Given the description of an element on the screen output the (x, y) to click on. 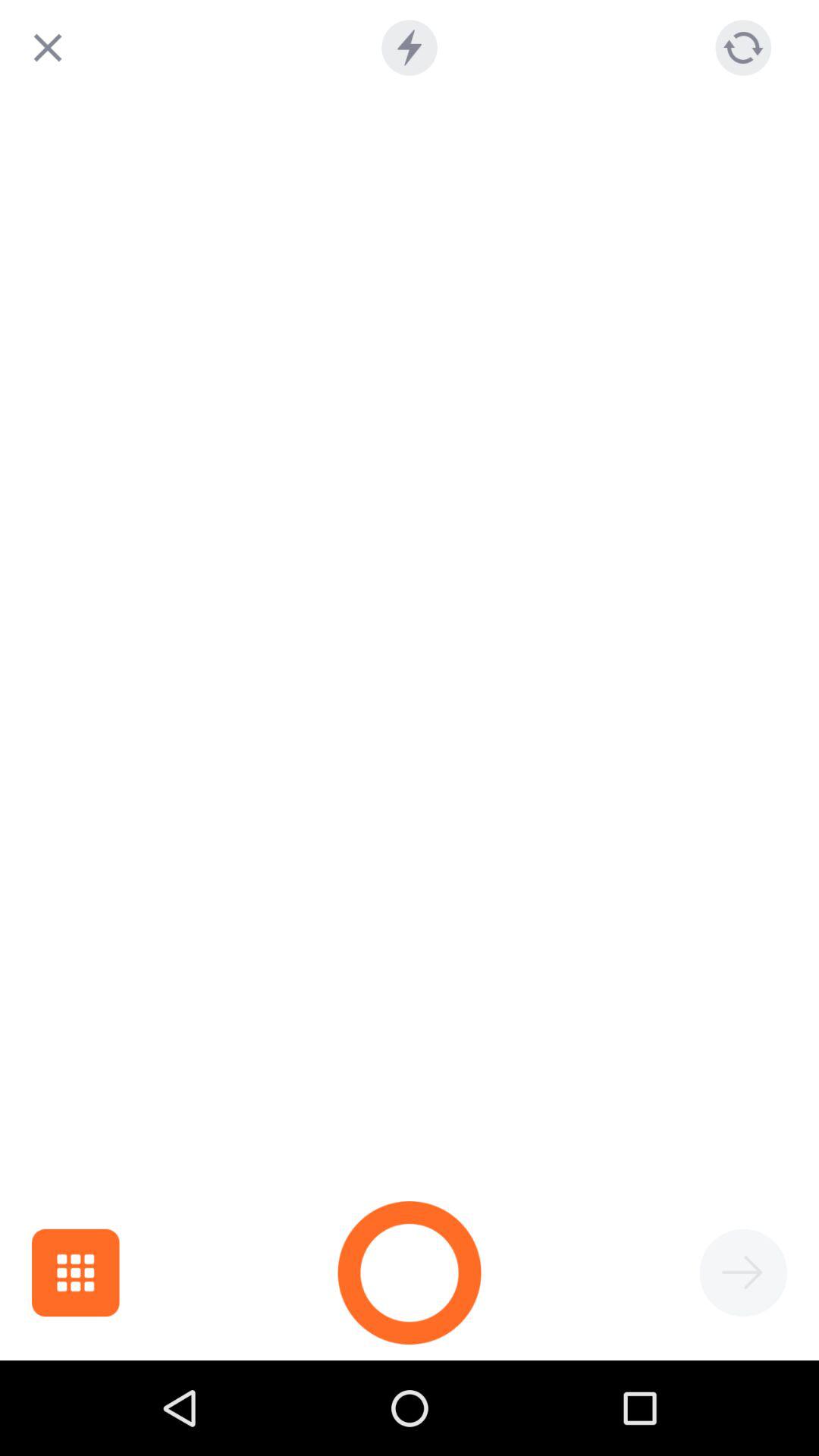
open the item at the bottom left corner (75, 1272)
